Given the description of an element on the screen output the (x, y) to click on. 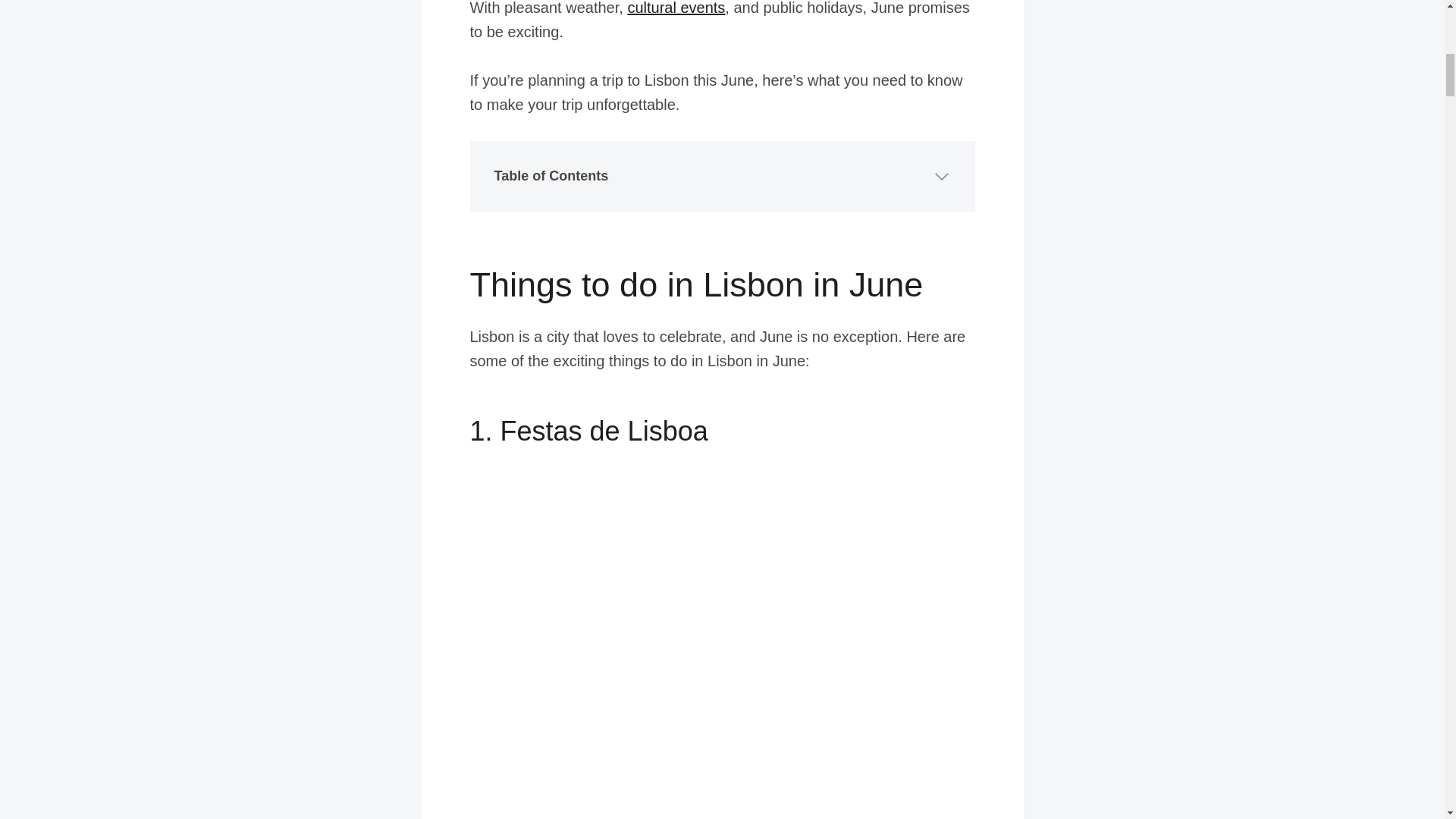
cultural events (676, 7)
Table of Contents (722, 175)
